Given the description of an element on the screen output the (x, y) to click on. 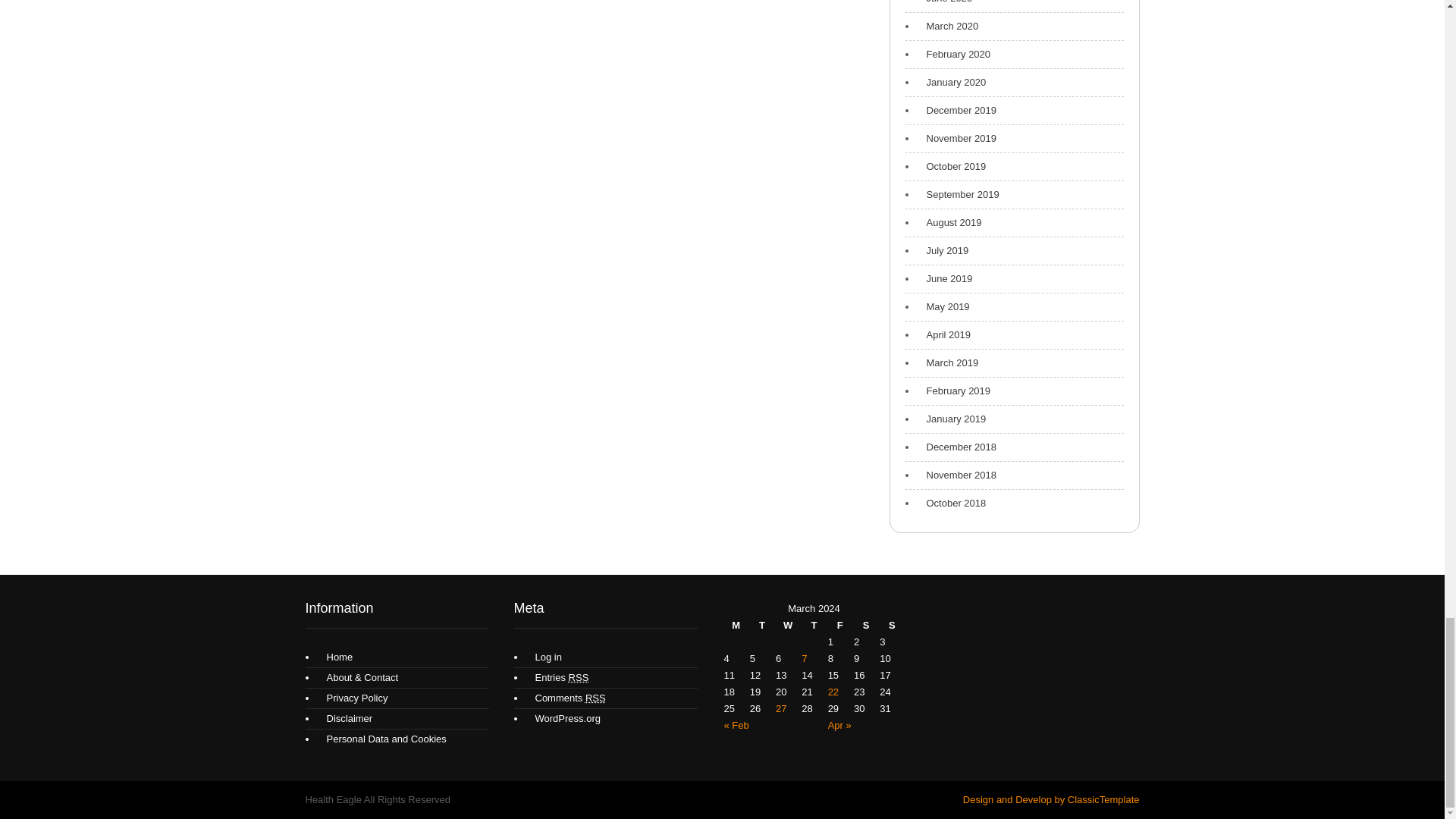
Sunday (891, 625)
Thursday (813, 625)
Really Simple Syndication (579, 677)
Saturday (865, 625)
Monday (735, 625)
Really Simple Syndication (595, 697)
Wednesday (787, 625)
Tuesday (761, 625)
Friday (839, 625)
